Given the description of an element on the screen output the (x, y) to click on. 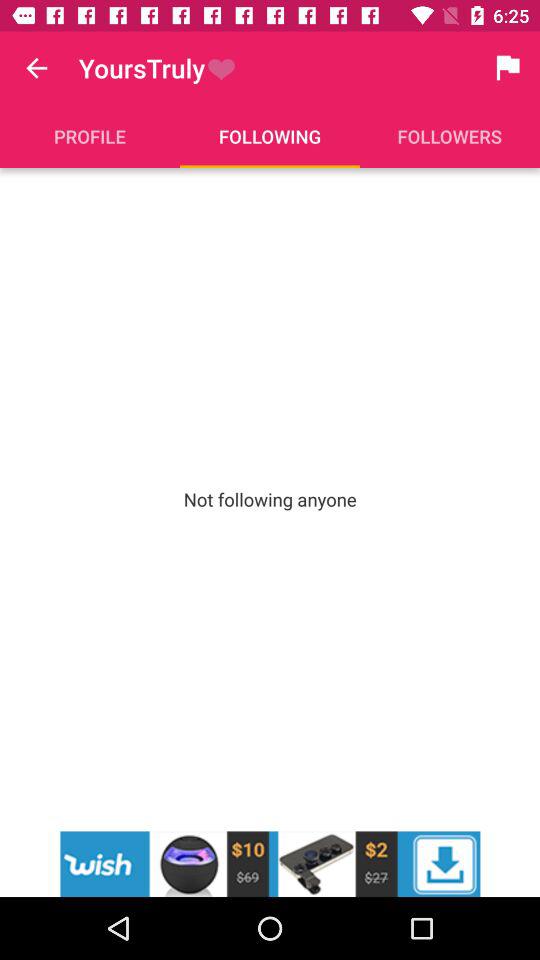
wish advertisement (270, 864)
